Given the description of an element on the screen output the (x, y) to click on. 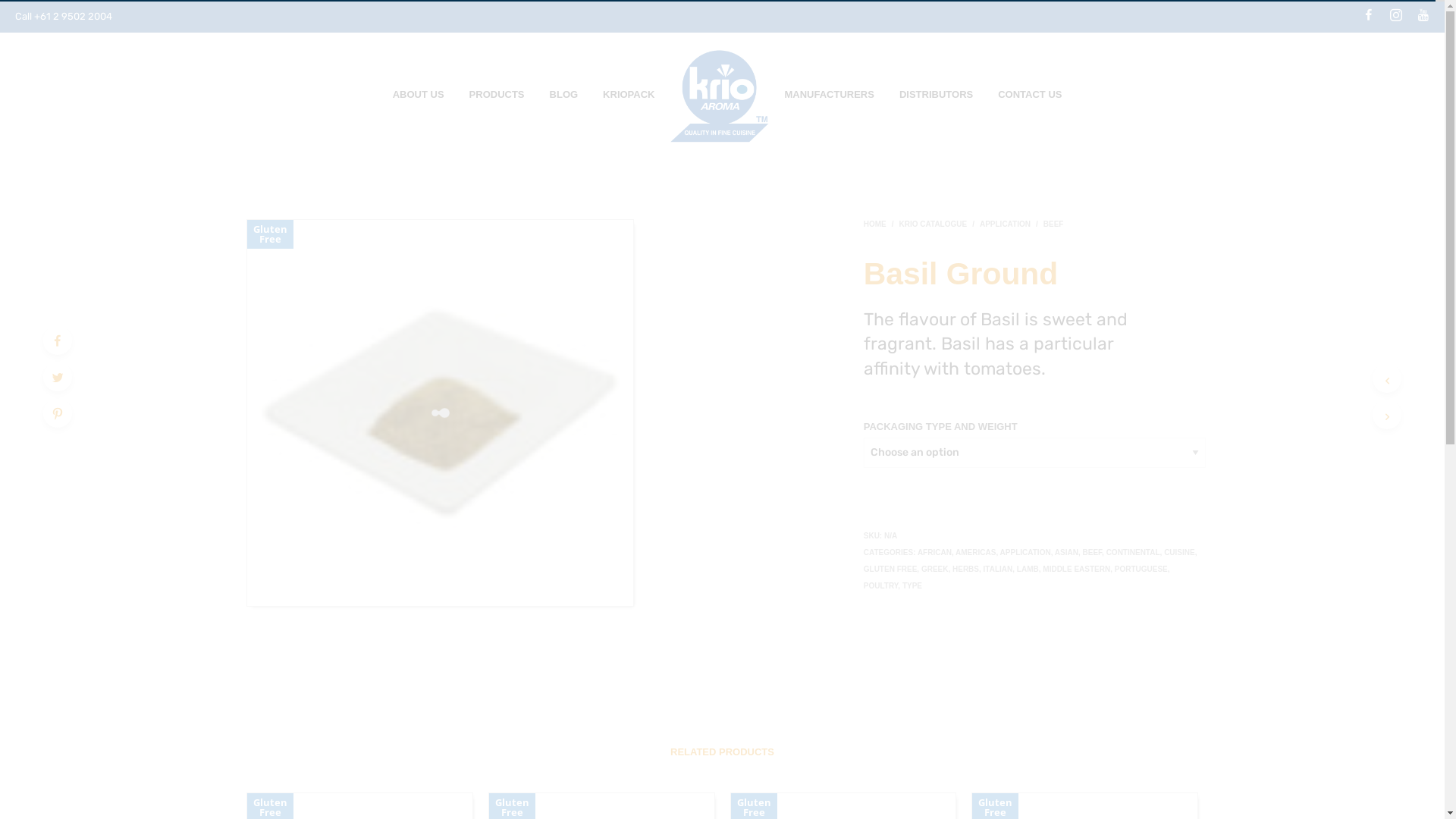
APPLICATION Element type: text (1004, 223)
ITALIAN Element type: text (998, 568)
MANUFACTURERS Element type: text (828, 93)
We give you the flavour, you be the creator. Element type: hover (718, 93)
HOME Element type: text (877, 223)
PORTUGUESE Element type: text (1140, 568)
CONTACT US Element type: text (1029, 93)
ABOUT US Element type: text (418, 93)
GLUTEN FREE Element type: text (890, 568)
CONTINENTAL Element type: text (1133, 552)
GREEK Element type: text (934, 568)
ASIAN Element type: text (1066, 552)
DISTRIBUTORS Element type: text (936, 93)
AFRICAN Element type: text (934, 552)
POULTRY Element type: text (880, 585)
TYPE Element type: text (912, 585)
MIDDLE EASTERN Element type: text (1076, 568)
HERBS Element type: text (965, 568)
BEEF Element type: text (1092, 552)
AMERICAS Element type: text (975, 552)
CUISINE Element type: text (1179, 552)
BEEF Element type: text (1053, 223)
KRIO CATALOGUE Element type: text (933, 223)
PRODUCTS Element type: text (497, 93)
APPLICATION Element type: text (1025, 552)
BLOG Element type: text (563, 93)
KRIOPACK Element type: text (628, 93)
LAMB Element type: text (1027, 568)
